Given the description of an element on the screen output the (x, y) to click on. 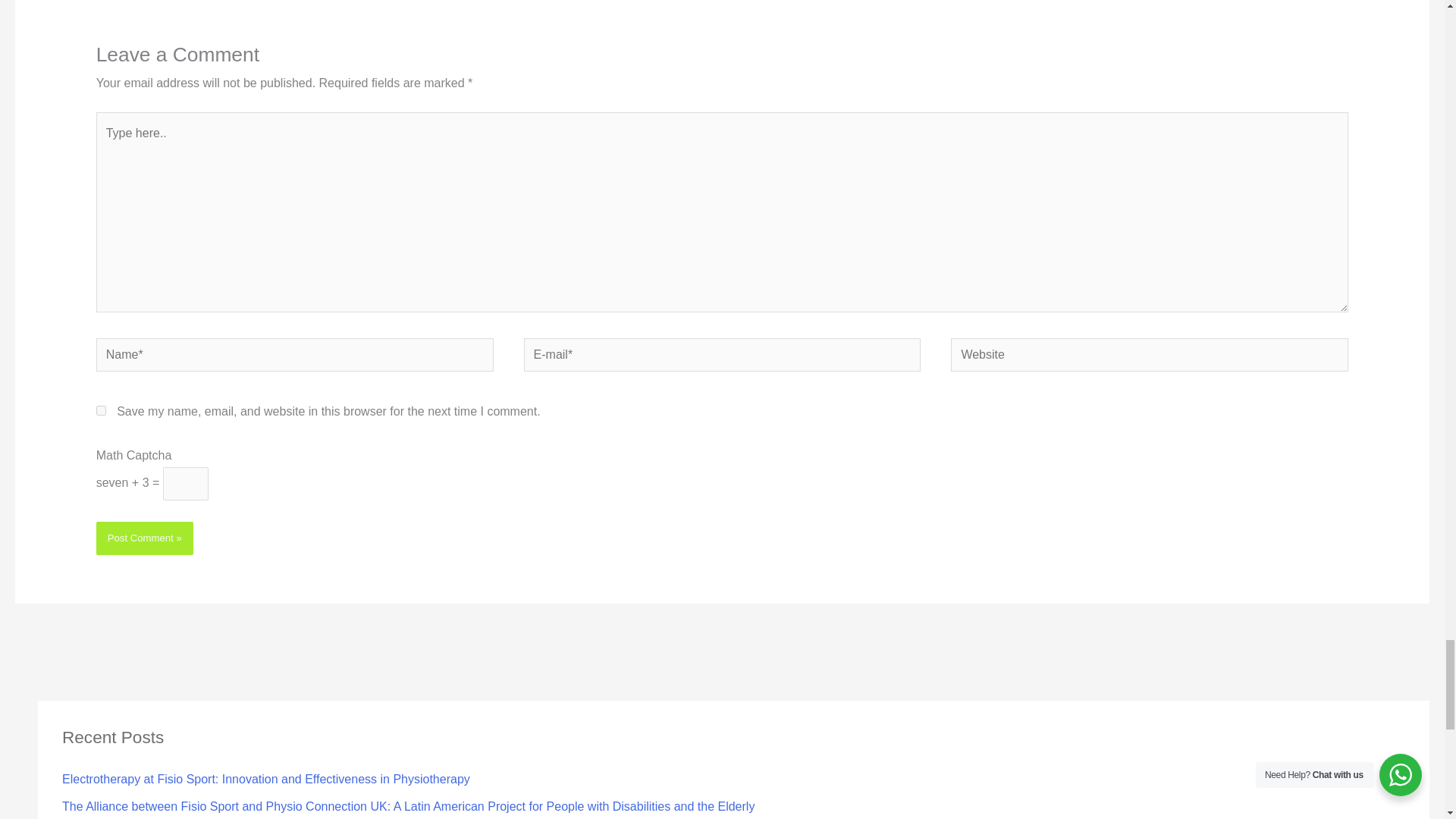
yes (101, 410)
